Given the description of an element on the screen output the (x, y) to click on. 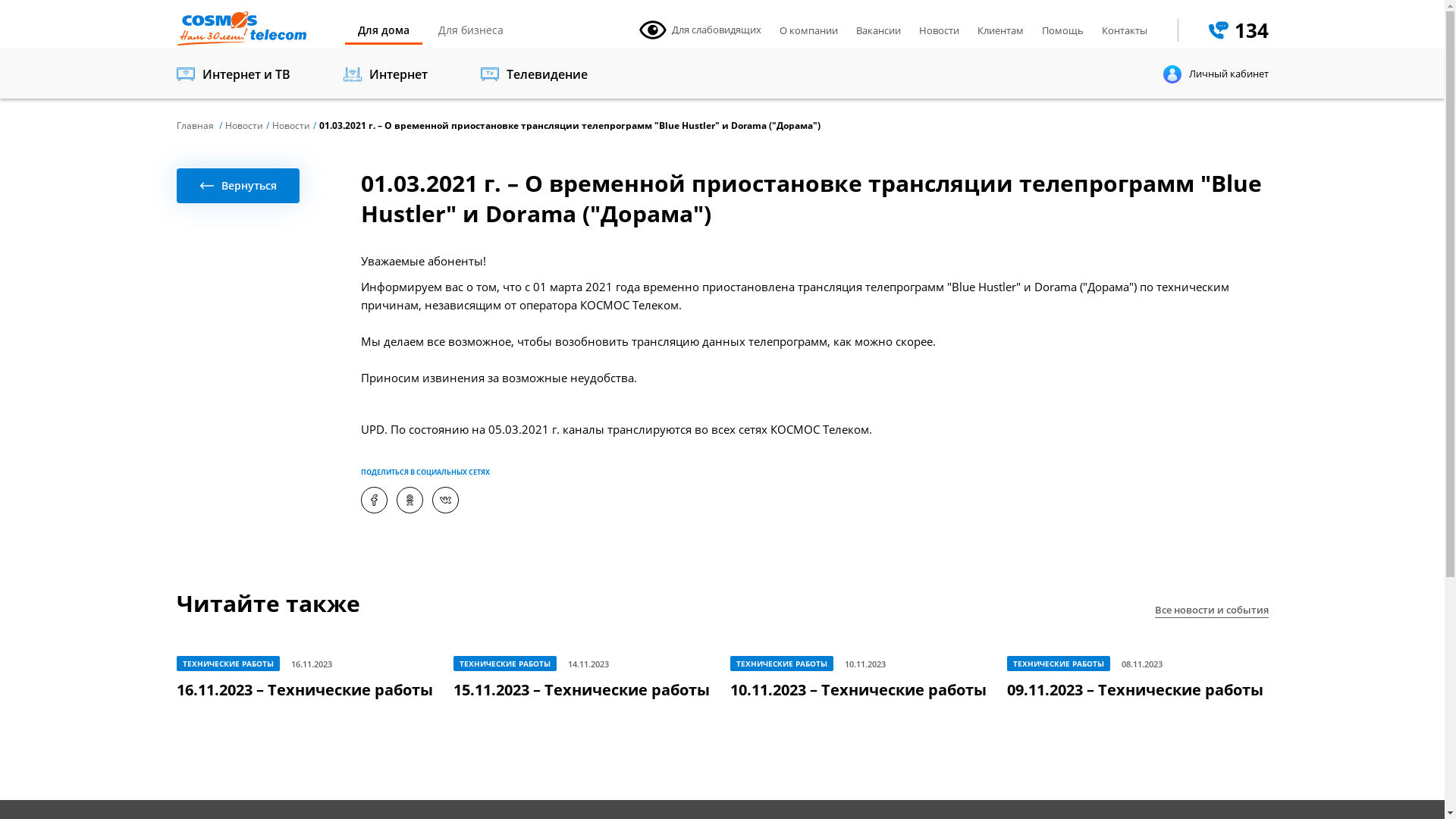
134 Element type: text (1238, 30)
